Given the description of an element on the screen output the (x, y) to click on. 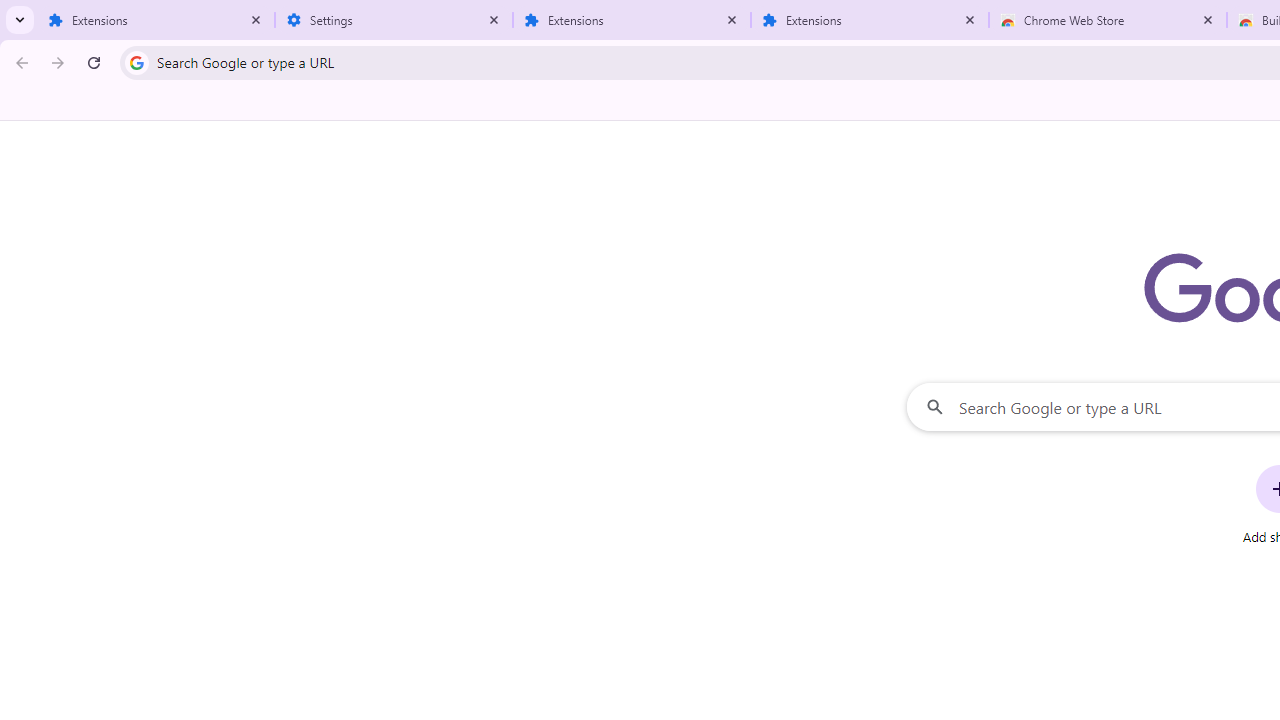
Extensions (870, 20)
Chrome Web Store (1108, 20)
Extensions (156, 20)
Extensions (632, 20)
Settings (394, 20)
